Given the description of an element on the screen output the (x, y) to click on. 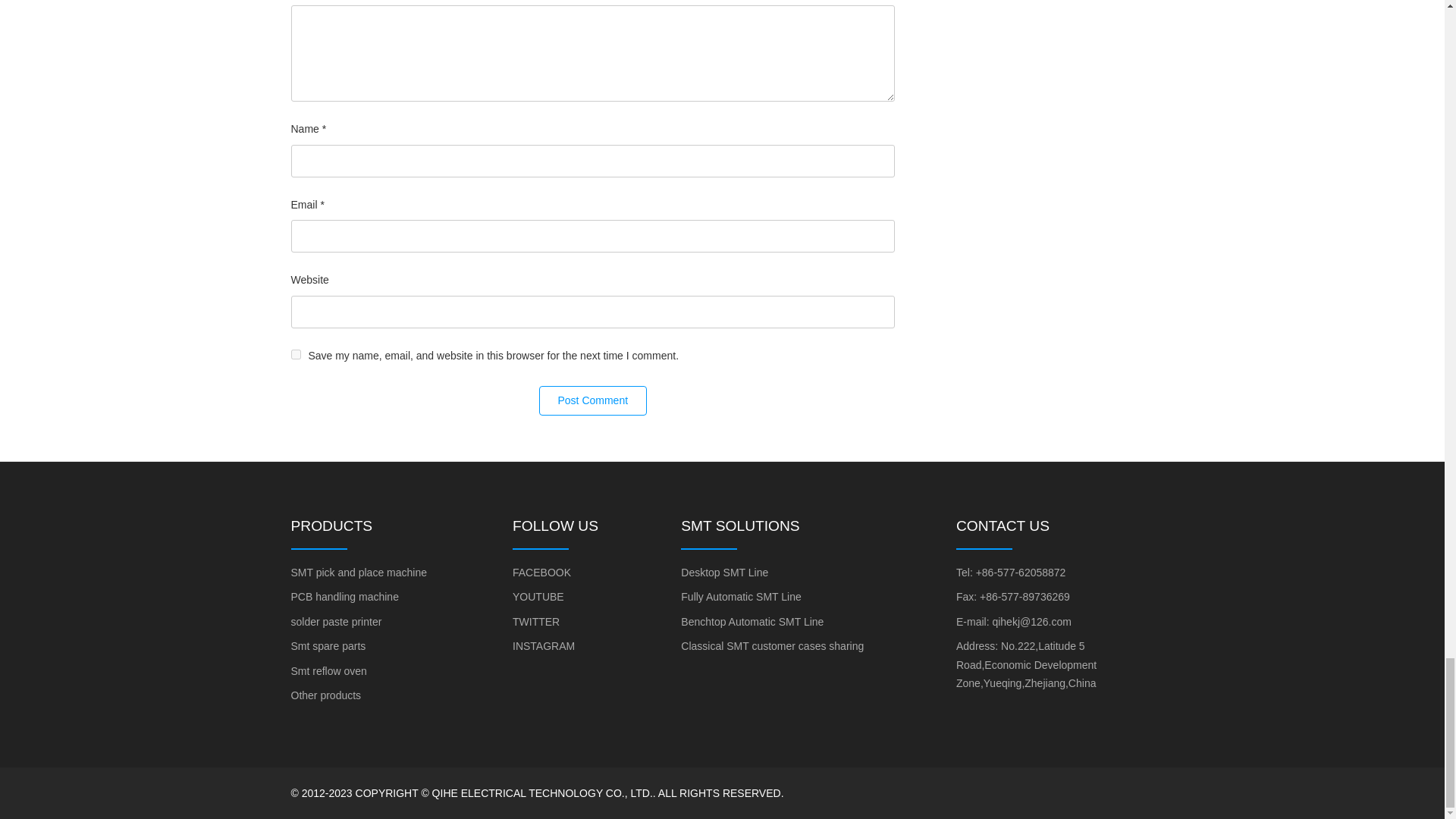
yes (296, 354)
Post Comment (592, 400)
